Given the description of an element on the screen output the (x, y) to click on. 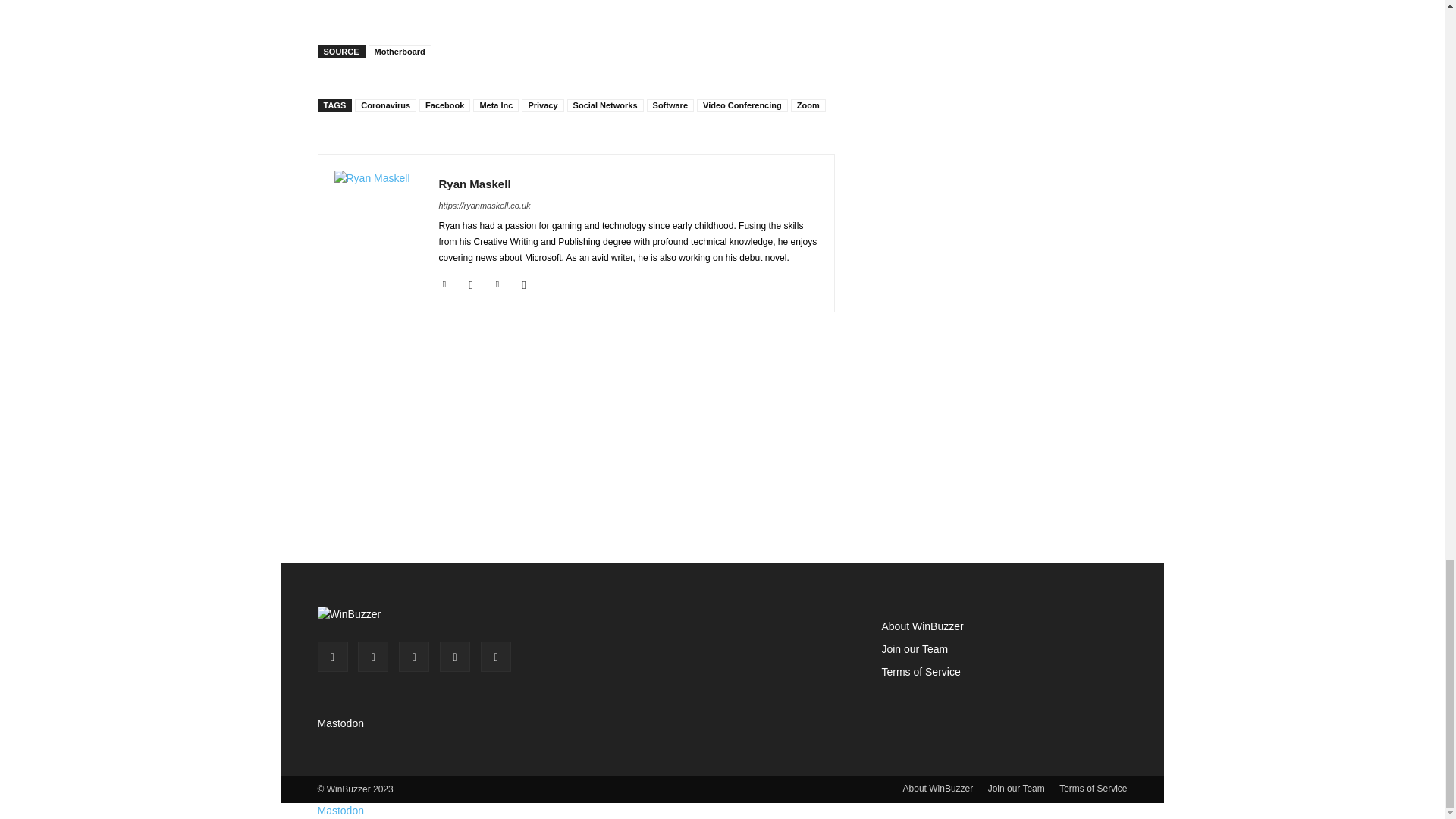
Twitter (497, 282)
Linkedin (443, 282)
Mail (471, 282)
